Given the description of an element on the screen output the (x, y) to click on. 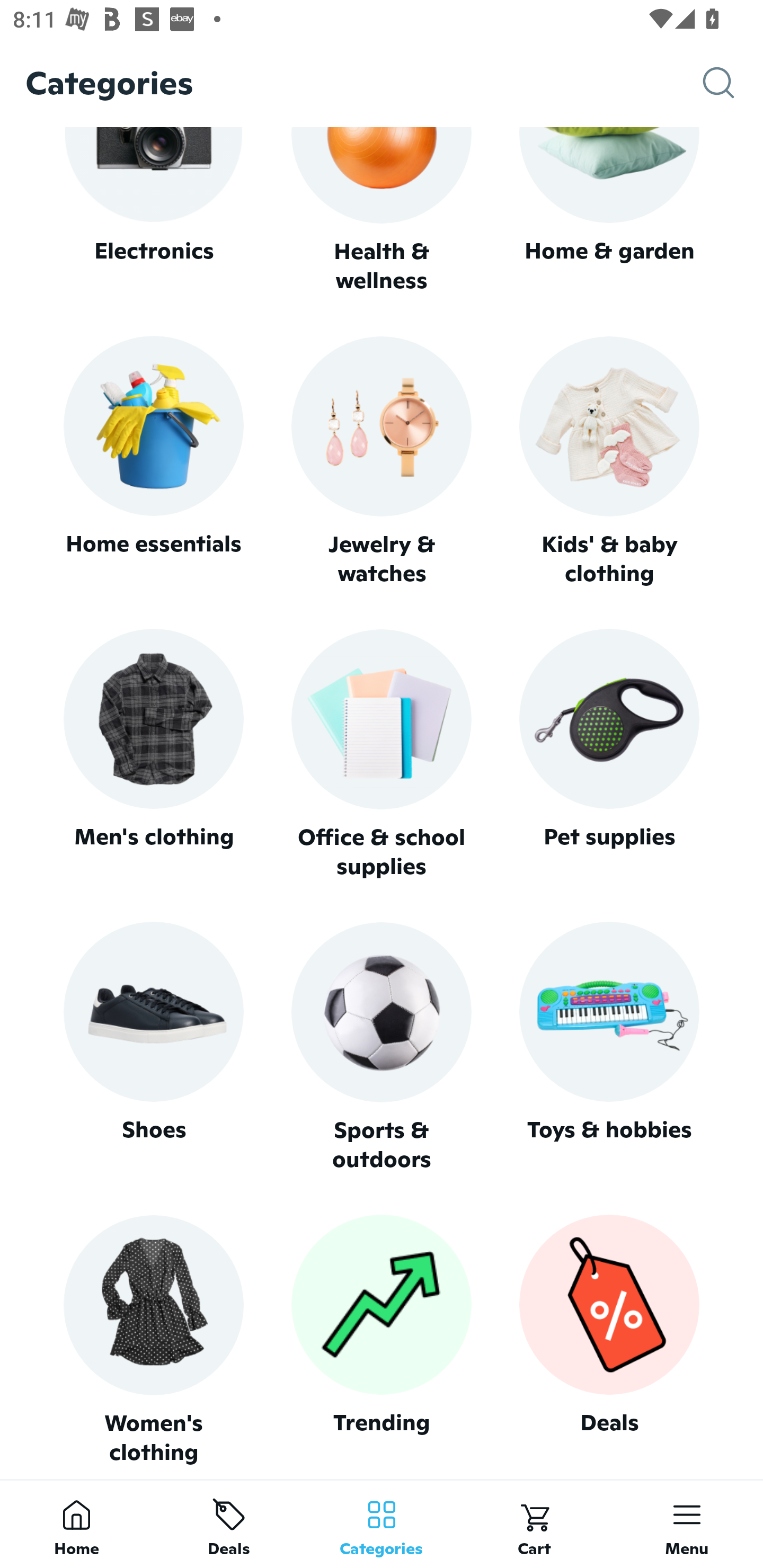
Search (732, 82)
Electronics (153, 210)
Health & wellness (381, 210)
Home & garden (609, 210)
Home essentials (153, 461)
Jewelry & watches (381, 462)
Kids' & baby clothing (609, 462)
Men's clothing (153, 753)
Pet supplies (609, 753)
Office & school supplies (381, 753)
Shoes (153, 1046)
Toys & hobbies (609, 1046)
Sports & outdoors (381, 1046)
Trending (381, 1340)
Deals (609, 1340)
Women's clothing (153, 1340)
Home (76, 1523)
Deals (228, 1523)
Categories (381, 1523)
Cart (533, 1523)
Menu (686, 1523)
